Given the description of an element on the screen output the (x, y) to click on. 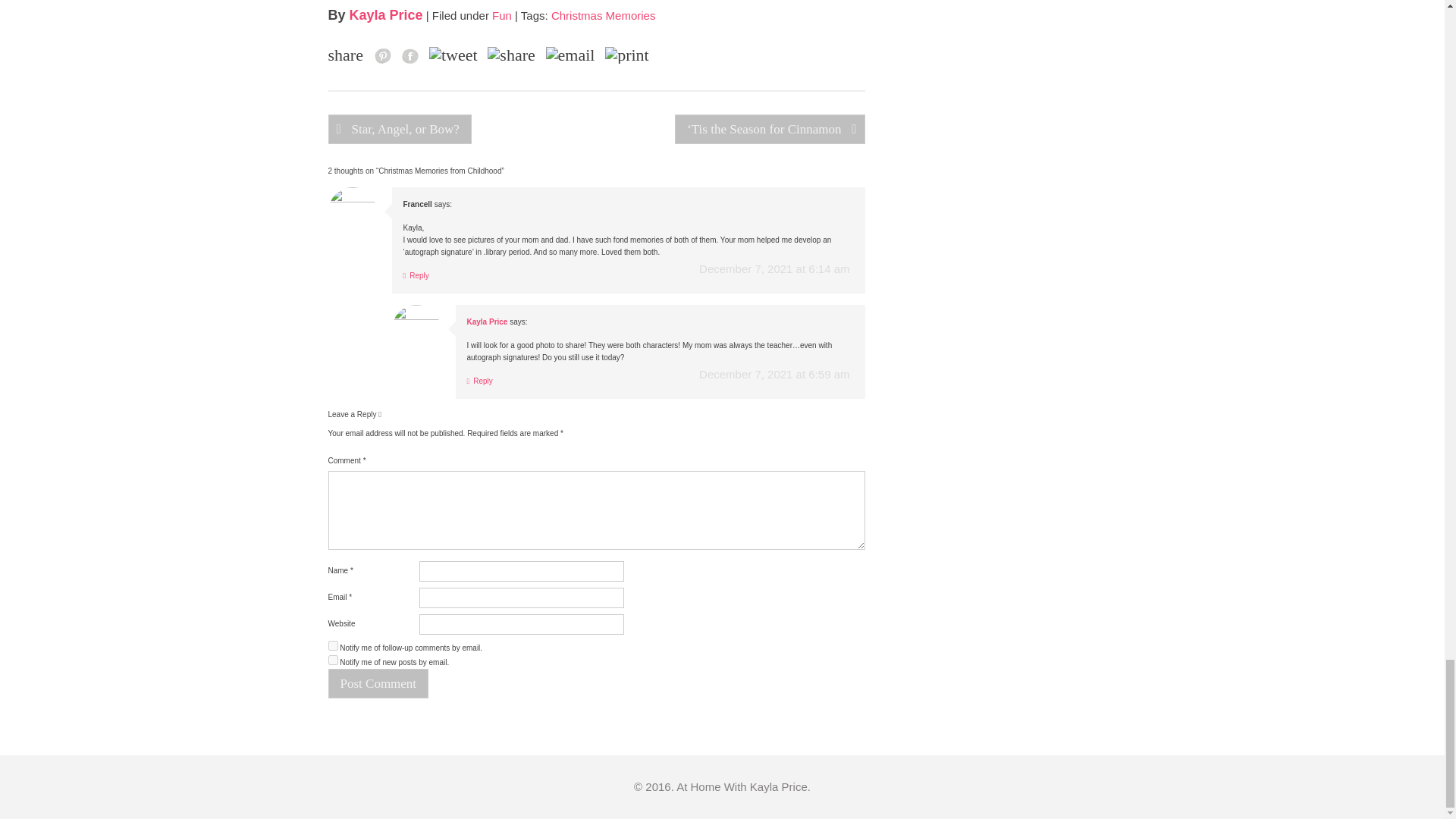
Post Comment (377, 683)
December 7, 2021 at 6:14 am (773, 268)
Reply (480, 380)
Reply (416, 275)
Post Comment (377, 683)
subscribe (332, 645)
Star, Angel, or Bow? (398, 129)
Kayla Price (487, 321)
Christmas Memories (603, 15)
subscribe (332, 660)
